Given the description of an element on the screen output the (x, y) to click on. 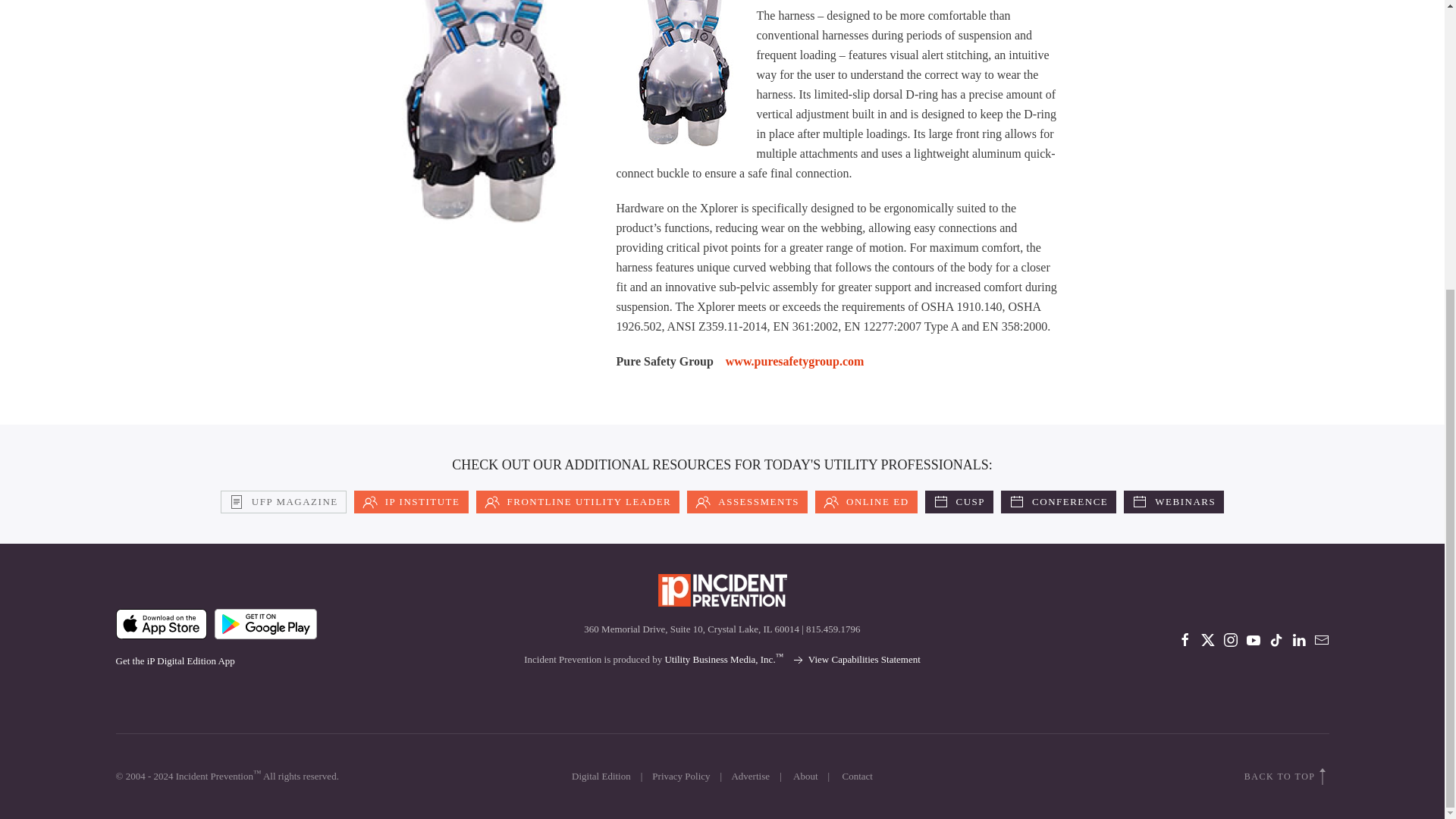
Frontline Microlearning Webinars (1174, 501)
Capabilities Statement (855, 659)
Utility Fleet Professional Magazine (283, 501)
iP Institute (410, 501)
Assess My Team (747, 501)
iPi Online Education (866, 501)
Frontline Utility Leadership Education (577, 501)
CUSP Certification (959, 501)
